Given the description of an element on the screen output the (x, y) to click on. 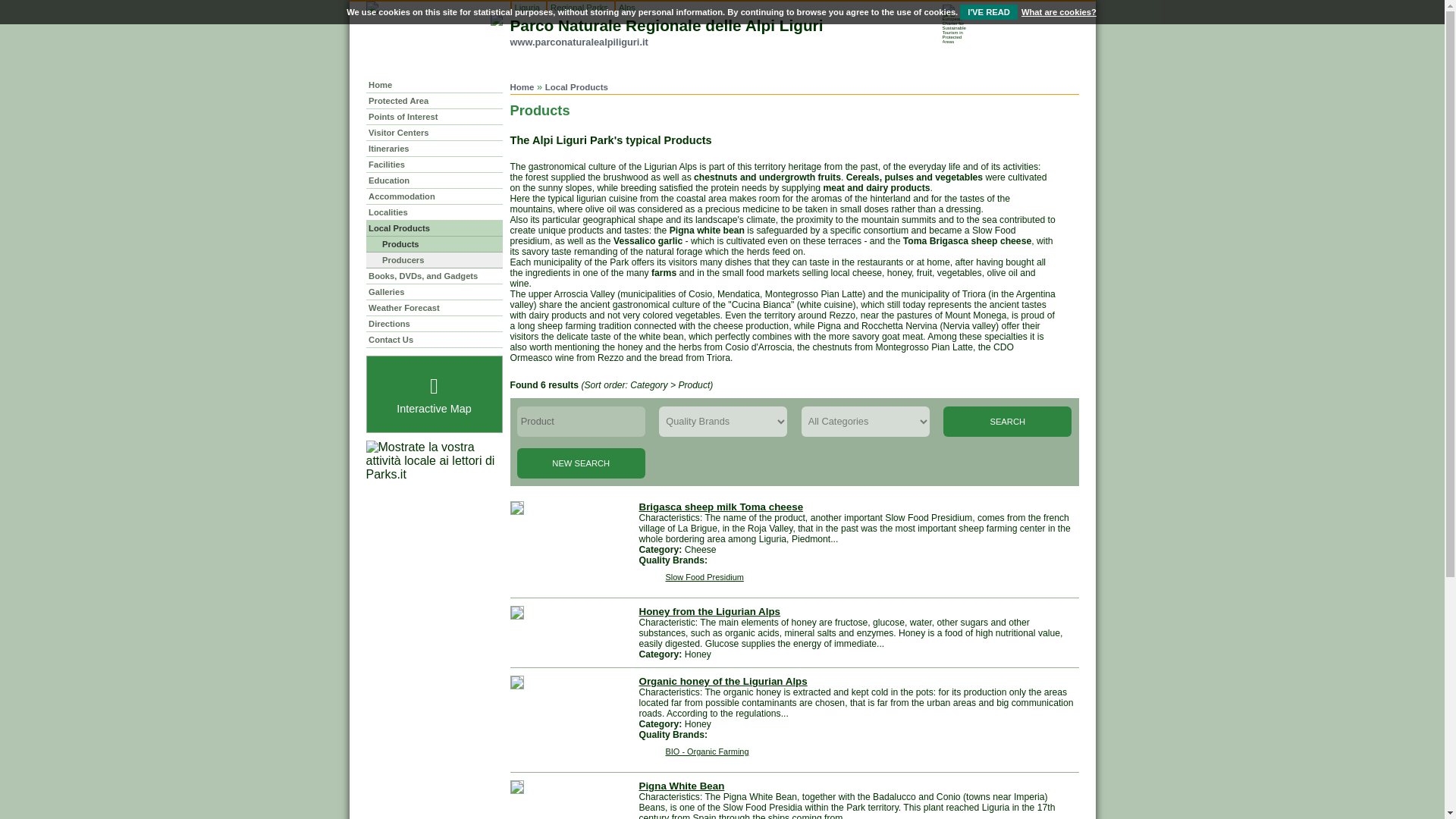
Brigasca sheep milk Toma cheese (721, 507)
 Slow Food Presidium (690, 576)
Home (521, 86)
Alps (626, 7)
Points of Interest (433, 116)
Regional Parks (579, 7)
Interactive Map (433, 394)
Protected Area (433, 100)
Logo PR Alpi Liguri (495, 19)
